Given the description of an element on the screen output the (x, y) to click on. 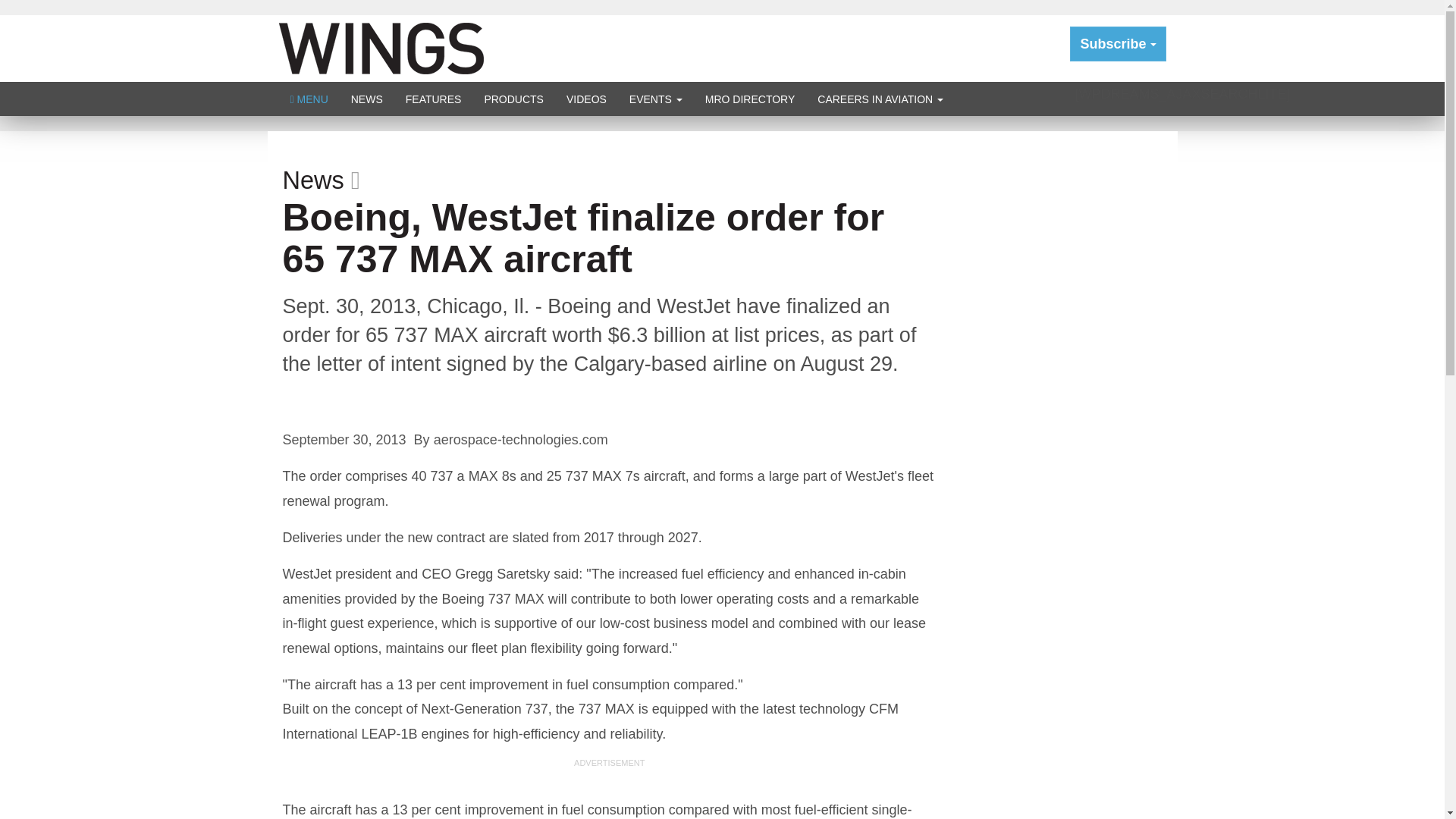
NEWS (366, 98)
Wings Magazine (381, 47)
VIDEOS (585, 98)
Subscribe (1118, 43)
MRO DIRECTORY (750, 98)
CAREERS IN AVIATION (880, 98)
PRODUCTS (512, 98)
FEATURES (433, 98)
Click to show site navigation (309, 98)
EVENTS (655, 98)
